Given the description of an element on the screen output the (x, y) to click on. 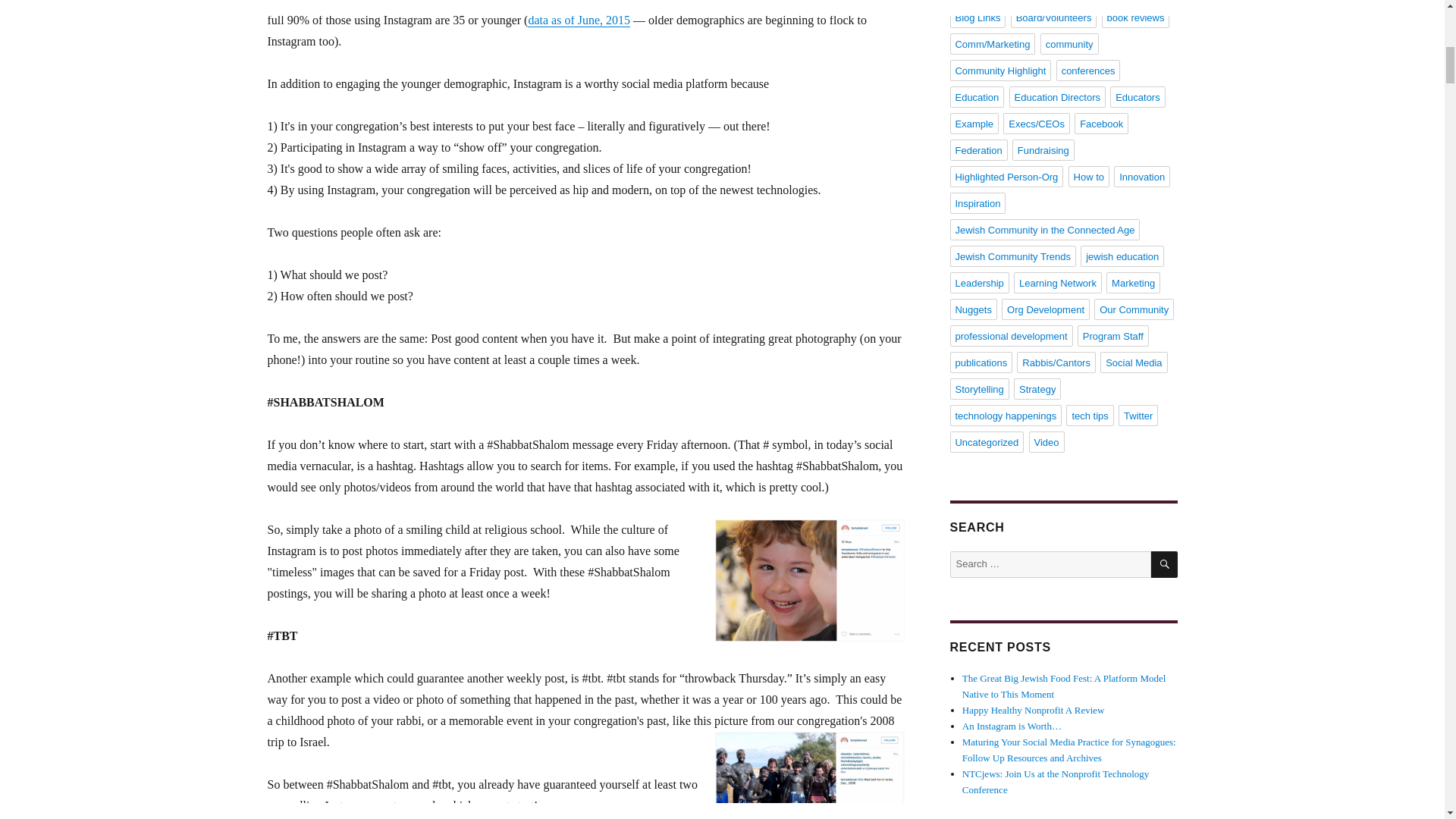
data as of June, 2015 (578, 19)
